Given the description of an element on the screen output the (x, y) to click on. 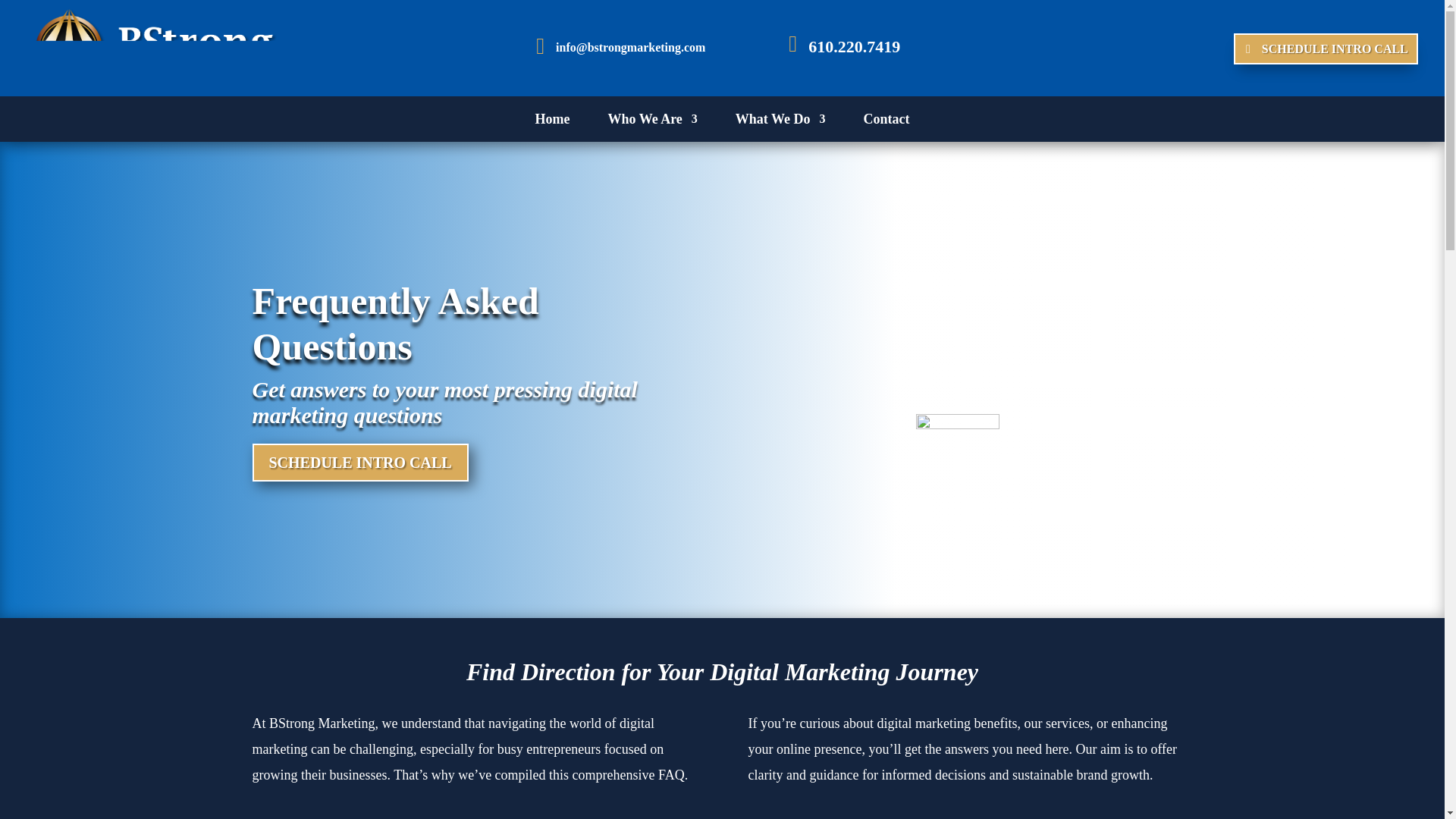
bstrong white logo for website (151, 48)
Home (551, 121)
Who We Are (652, 121)
Contact (885, 121)
What We Do (780, 121)
610.220.7419 (853, 46)
SCHEDULE INTRO CALL (1325, 48)
SCHEDULE INTRO CALL (359, 462)
